Given the description of an element on the screen output the (x, y) to click on. 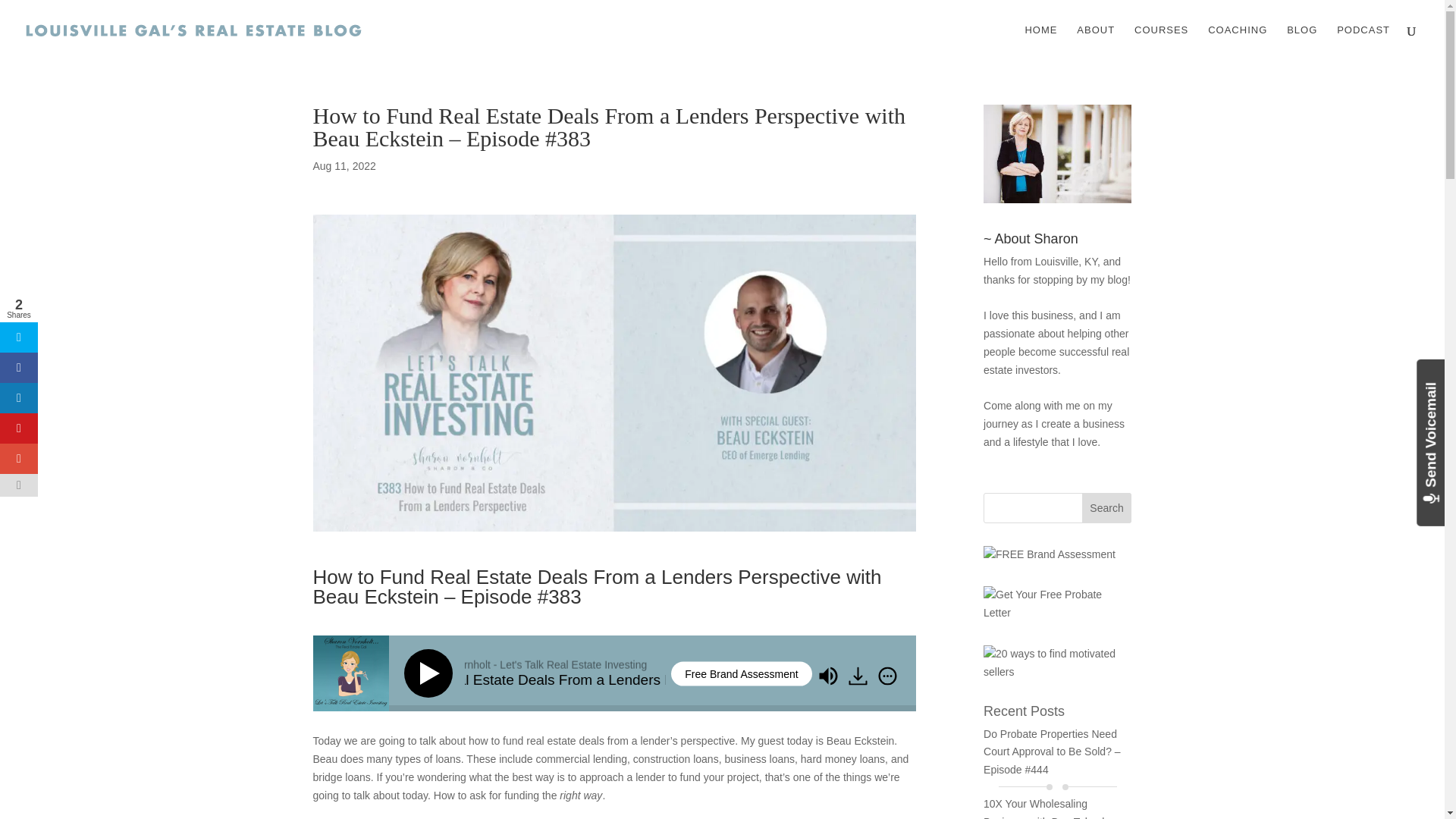
More (888, 676)
PODCAST (1363, 42)
Download (859, 677)
COURSES (1161, 42)
HOME (1041, 42)
Download (857, 676)
Search (1106, 508)
COACHING (1237, 42)
ABOUT (1096, 42)
Free Brand Assessment (740, 672)
